Given the description of an element on the screen output the (x, y) to click on. 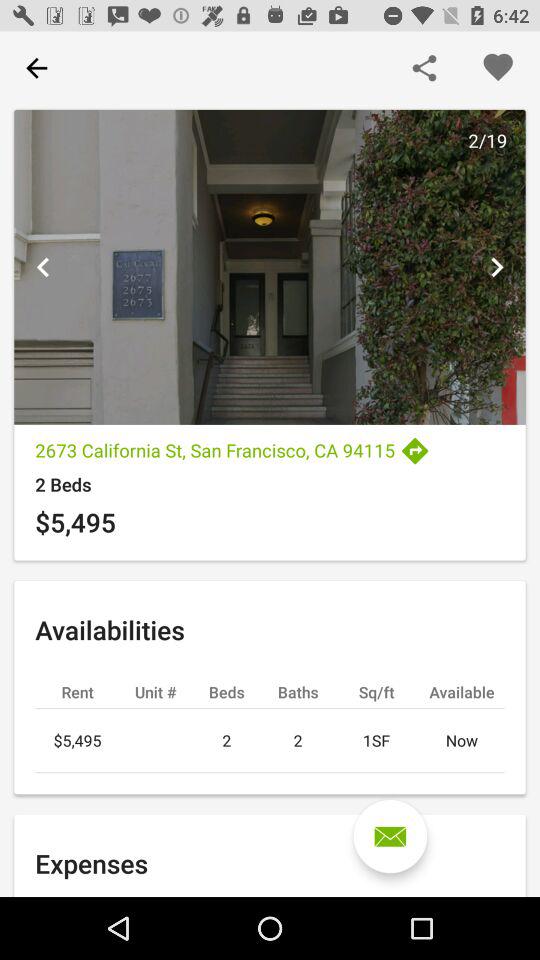
open the icon next to the expenses icon (389, 836)
